Given the description of an element on the screen output the (x, y) to click on. 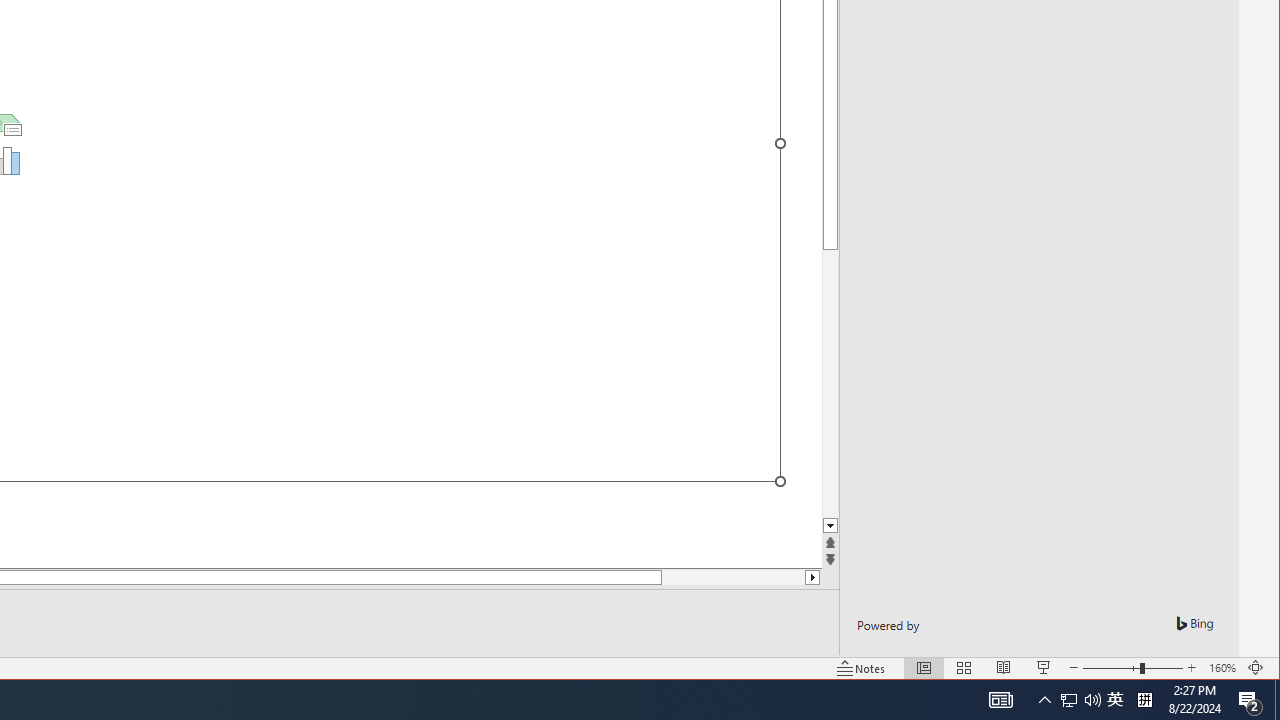
Zoom 160% (1222, 668)
